Given the description of an element on the screen output the (x, y) to click on. 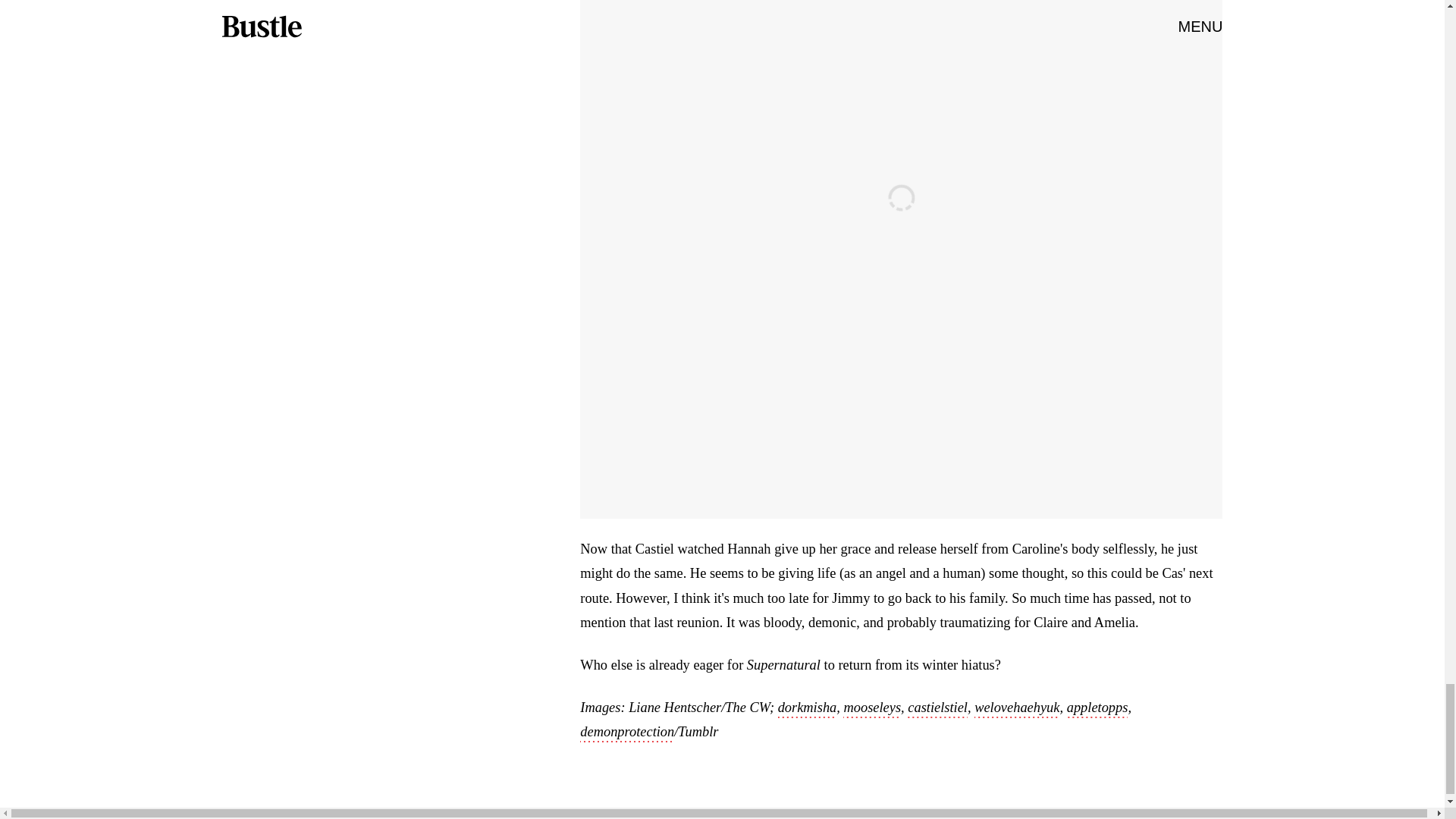
mooseleys (872, 709)
dorkmisha (807, 709)
appletopps (1097, 709)
castielstiel (937, 709)
demonprotection (626, 732)
welovehaehyuk (1016, 709)
